Given the description of an element on the screen output the (x, y) to click on. 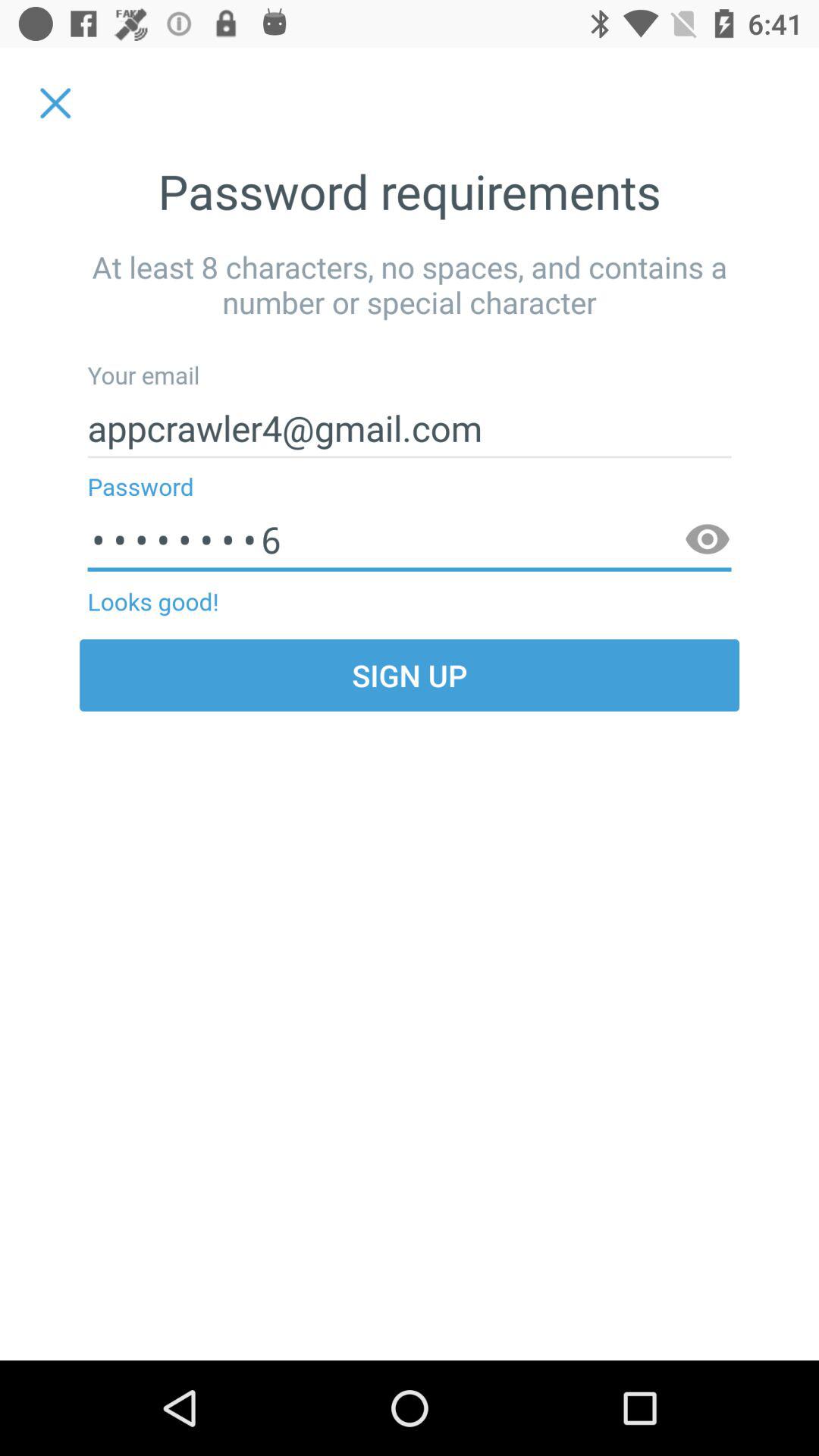
choose the item next to password requirements item (55, 103)
